Given the description of an element on the screen output the (x, y) to click on. 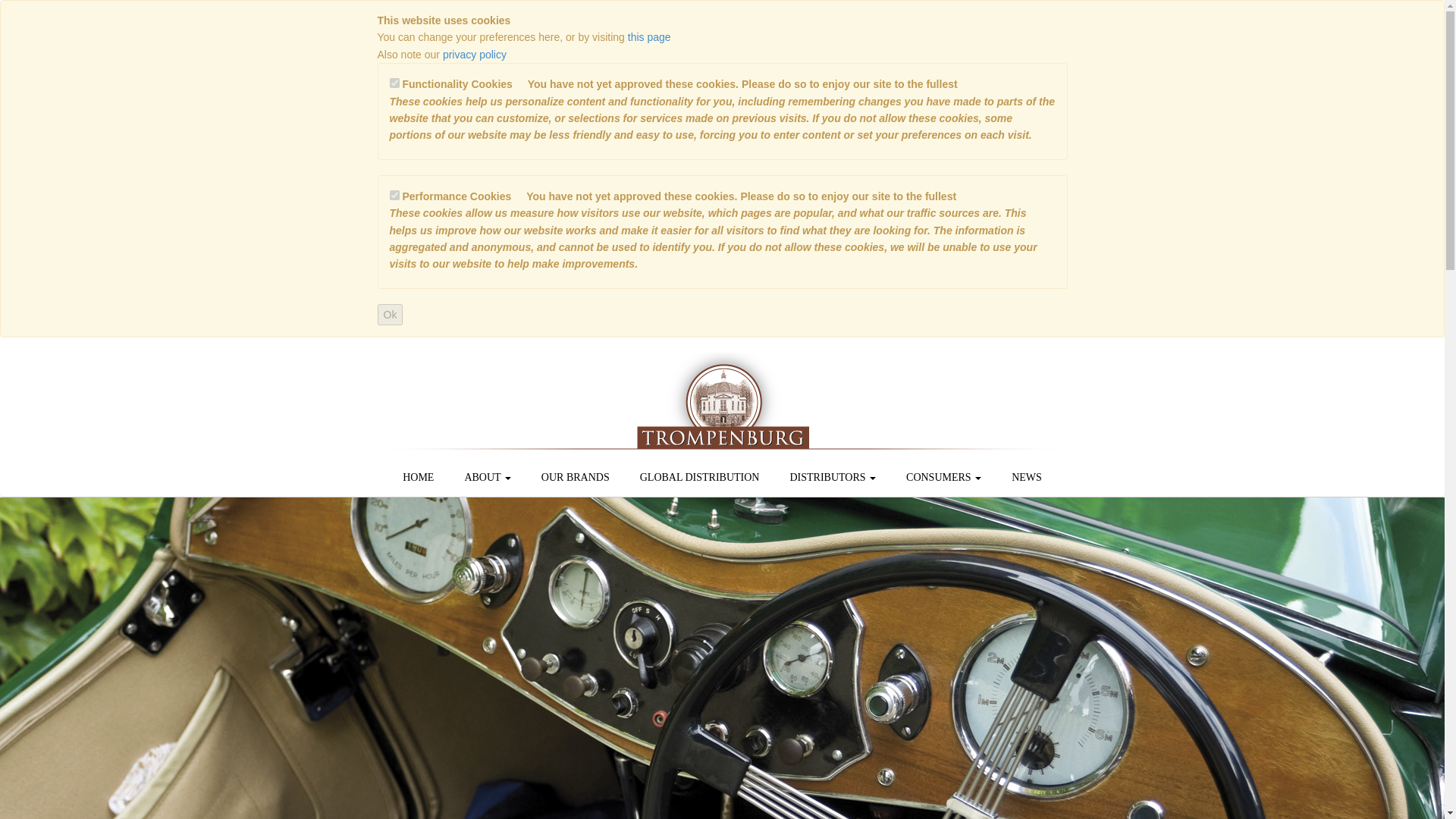
Ok (390, 314)
cookies and privacy (649, 37)
CONSUMERS (943, 477)
DISTRIBUTORS (832, 477)
privacy policy (474, 54)
Ok (390, 314)
ABOUT (486, 477)
y (394, 82)
NEWS (1026, 477)
y (394, 194)
HOME (417, 477)
OUR BRANDS (574, 477)
this page (649, 37)
GLOBAL DISTRIBUTION (699, 477)
